Given the description of an element on the screen output the (x, y) to click on. 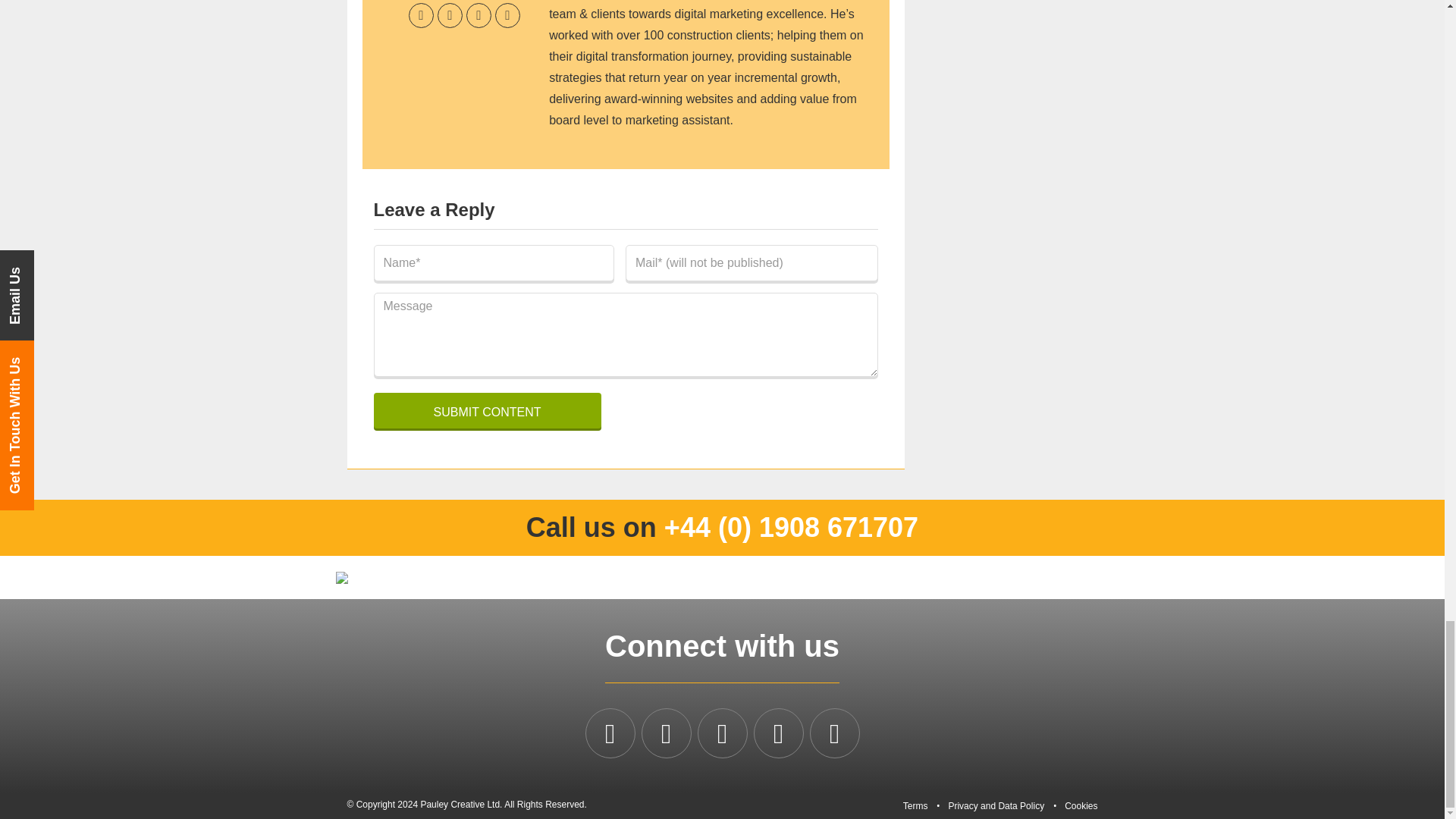
Submit content (485, 410)
